Given the description of an element on the screen output the (x, y) to click on. 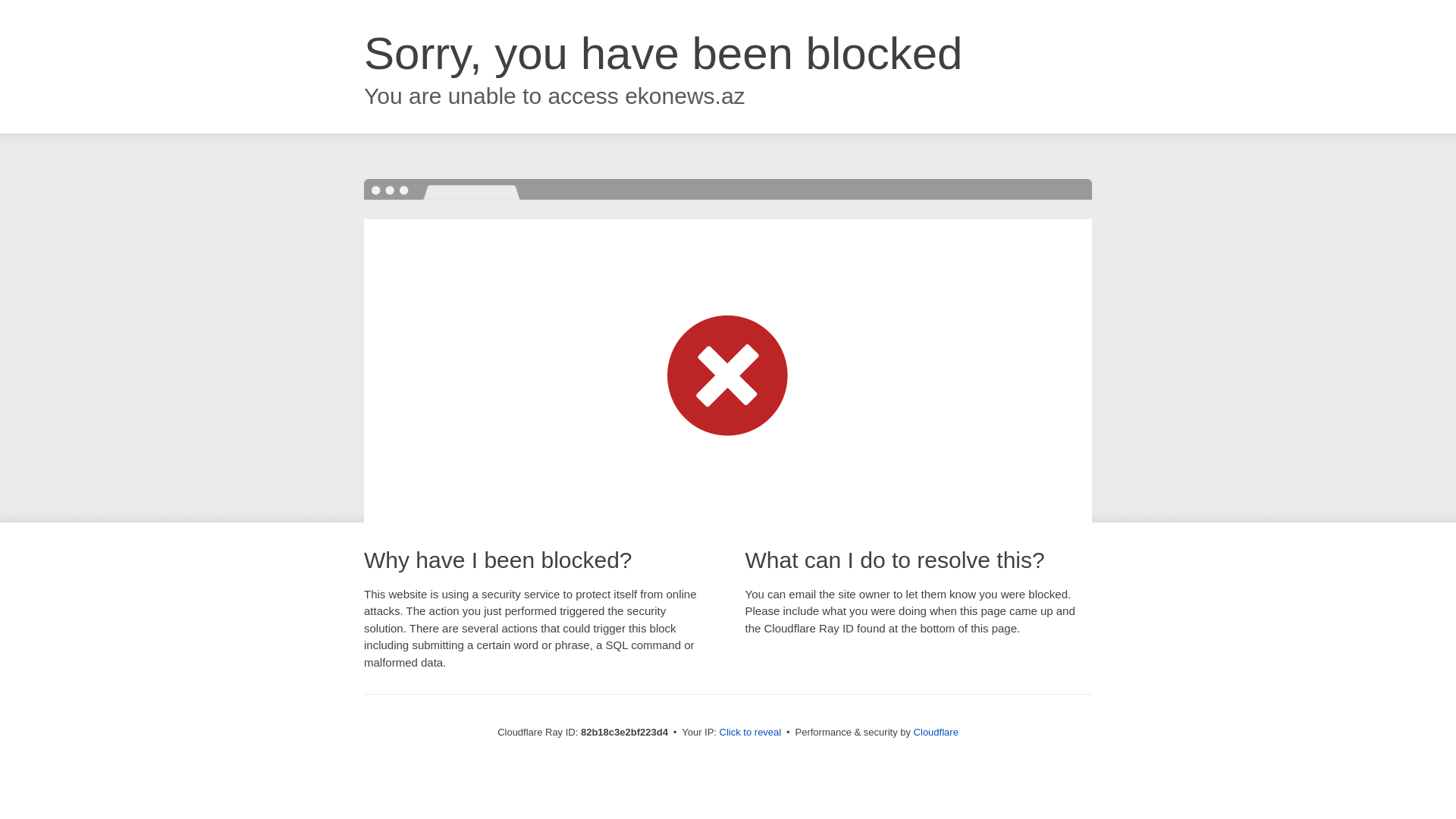
Click to reveal Element type: text (750, 732)
Cloudflare Element type: text (935, 731)
